Given the description of an element on the screen output the (x, y) to click on. 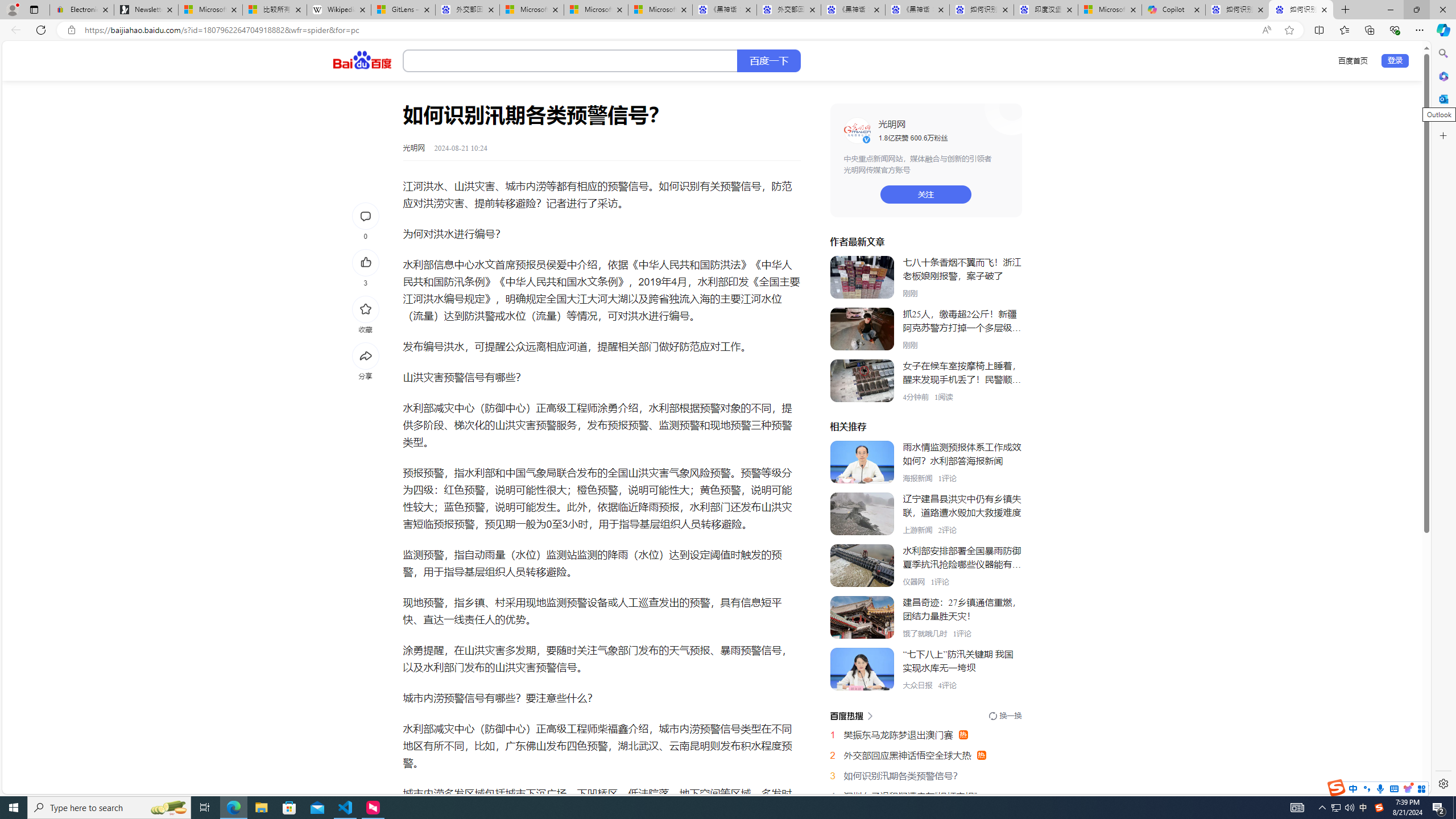
Side bar (1443, 418)
Outlook (1442, 98)
Copilot (1173, 9)
